Given the description of an element on the screen output the (x, y) to click on. 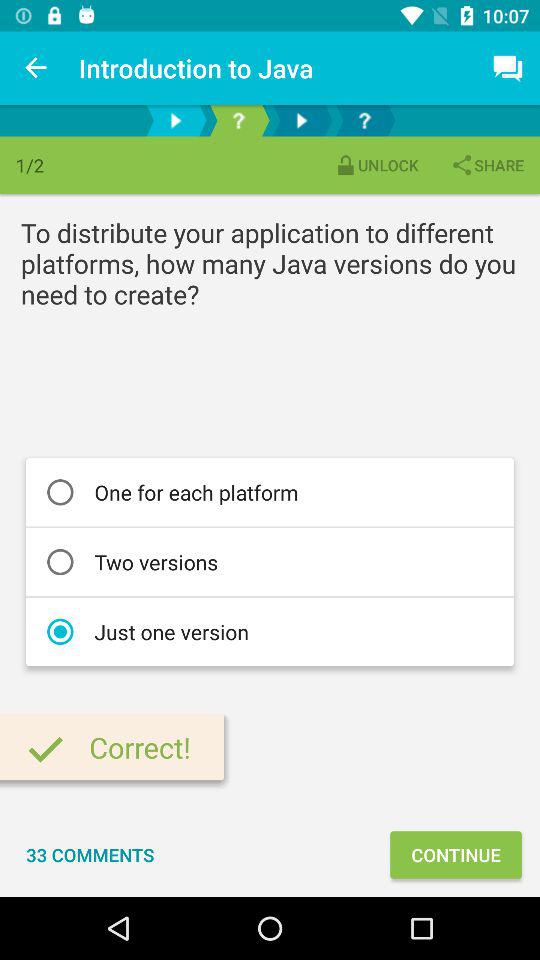
select play (175, 120)
